Given the description of an element on the screen output the (x, y) to click on. 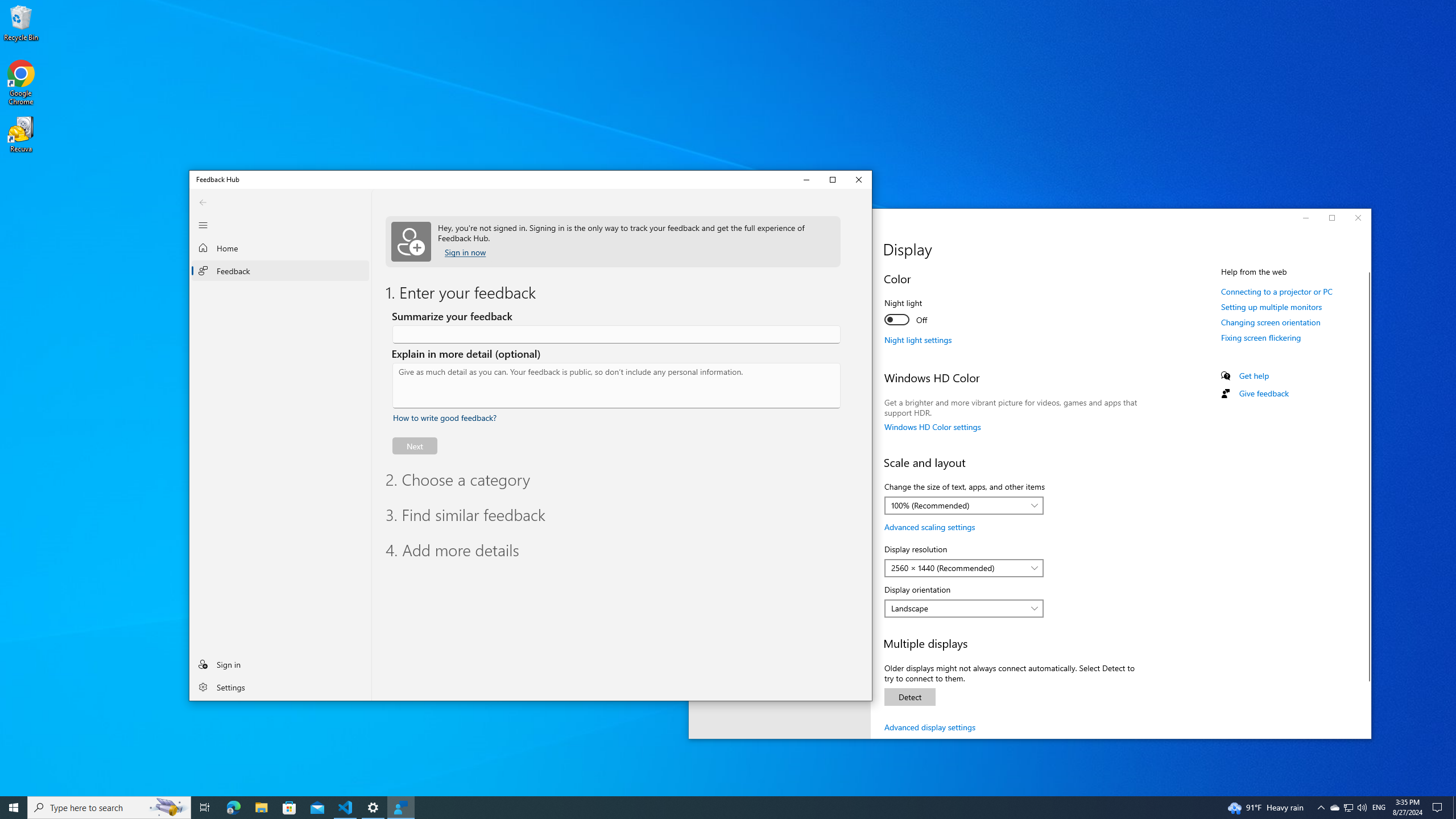
Type here to search (1347, 807)
Feedback (108, 807)
User Promoted Notification Area (280, 270)
Tray Input Indicator - English (United States) (1347, 807)
Minimize Feedback Hub (1378, 807)
Task View (806, 179)
Close Feedback Hub (204, 807)
Vertical (858, 179)
Search highlights icon opens search home window (867, 458)
